Given the description of an element on the screen output the (x, y) to click on. 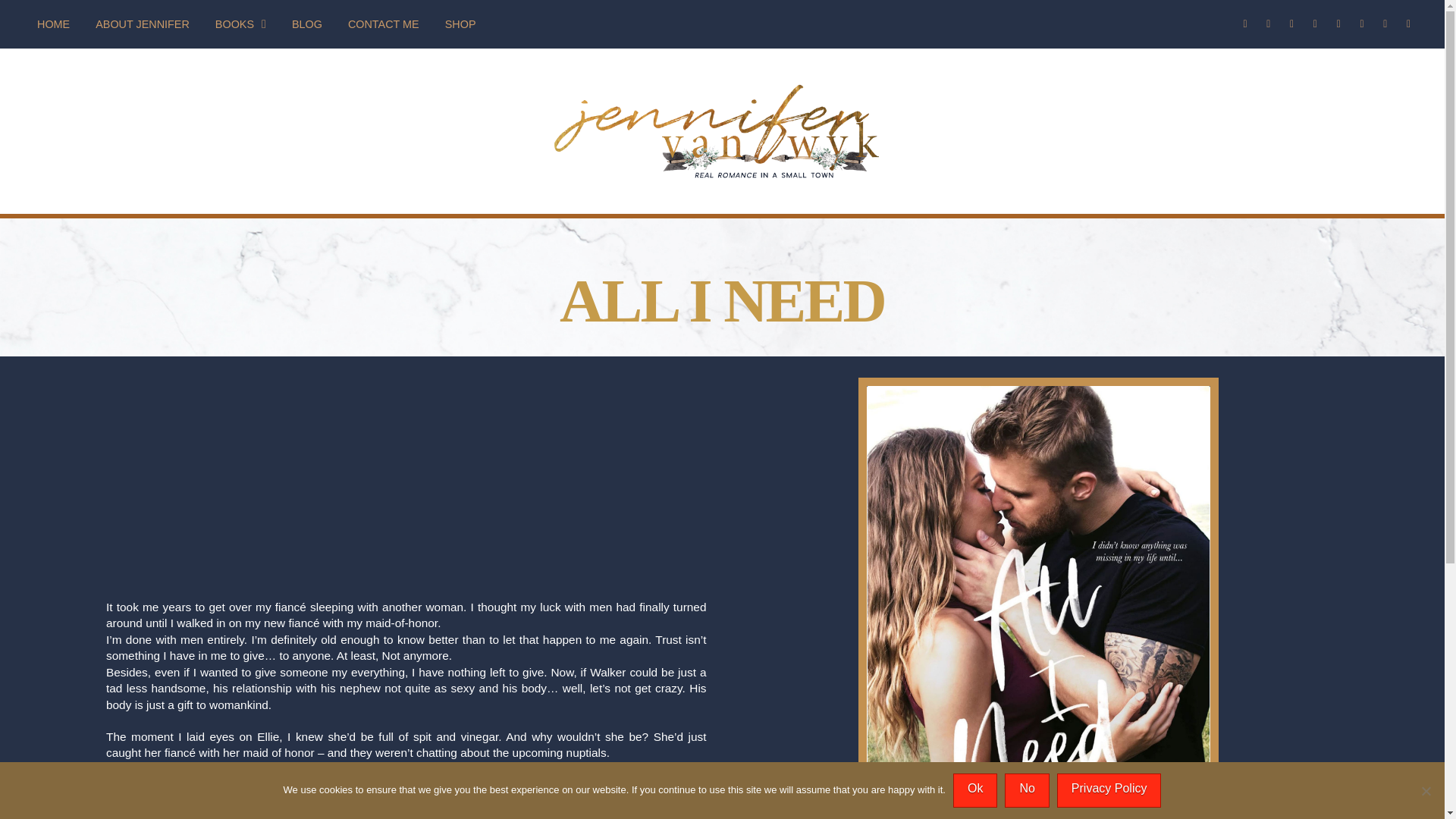
BLOG (306, 24)
BOOKS (240, 24)
ABOUT JENNIFER (142, 24)
SHOP (460, 24)
HOME (53, 24)
CONTACT ME (383, 24)
No (1425, 790)
